Given the description of an element on the screen output the (x, y) to click on. 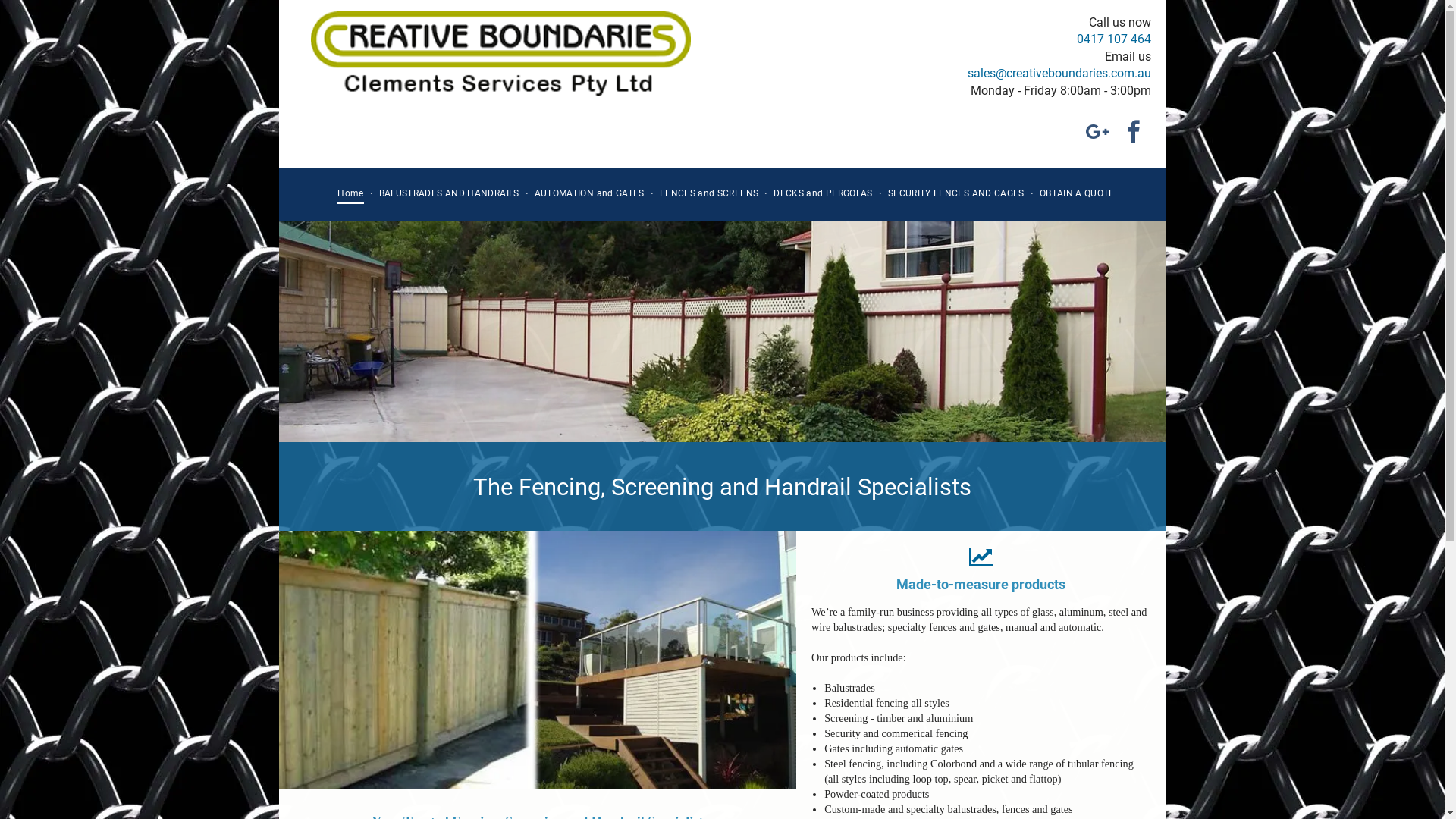
FENCES and SCREENS Element type: text (708, 193)
SECURITY FENCES AND CAGES Element type: text (955, 193)
0417 107 464 Element type: text (1113, 38)
AUTOMATION and GATES Element type: text (589, 193)
OBTAIN A QUOTE Element type: text (1076, 193)
reative boundaries security fencing Element type: hover (537, 659)
Home Element type: text (350, 193)
sales@creativeboundaries.com.au Element type: text (1059, 72)
DECKS and PERGOLAS Element type: text (822, 193)
BALUSTRADES AND HANDRAILS Element type: text (449, 193)
